Given the description of an element on the screen output the (x, y) to click on. 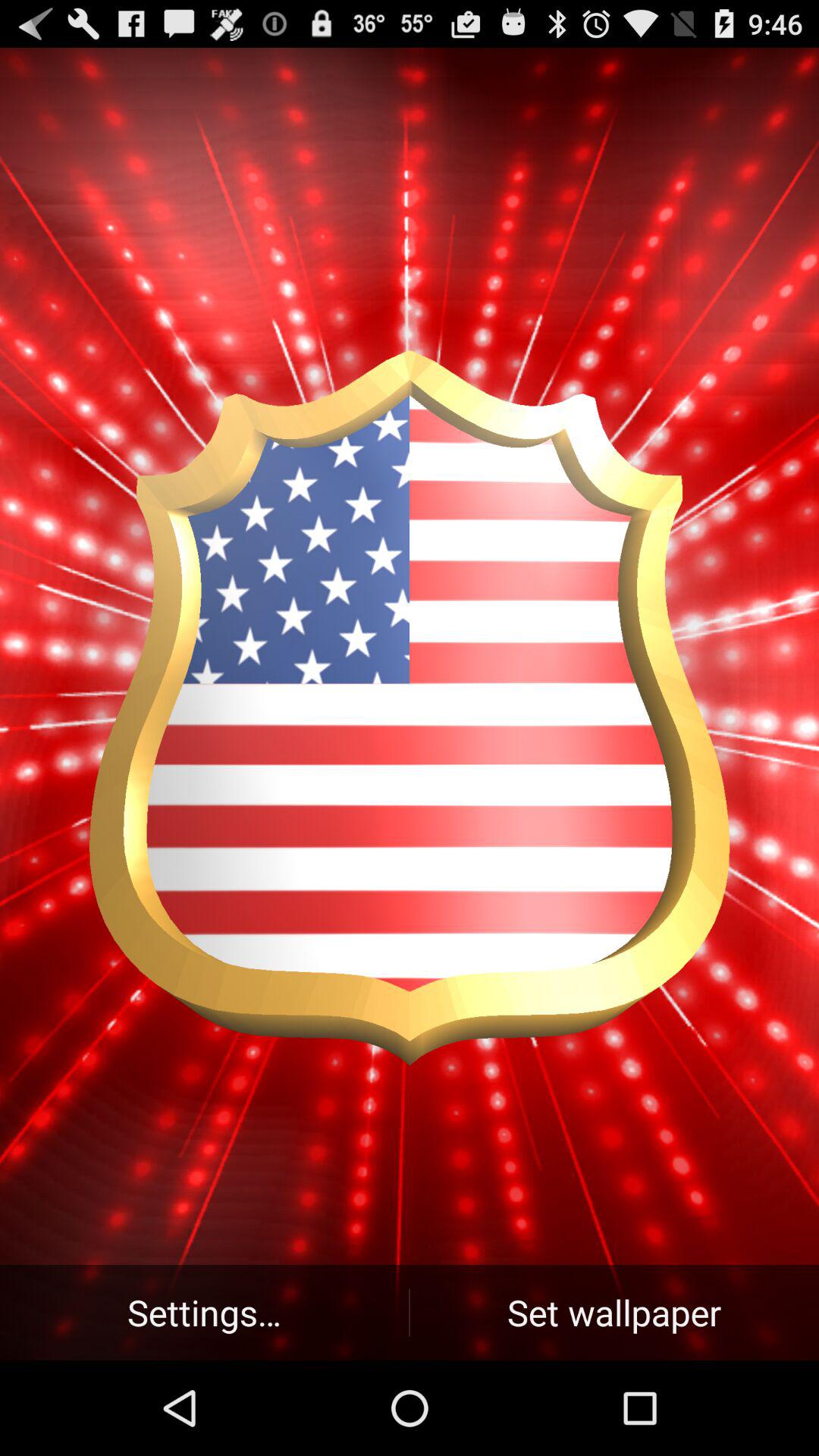
tap the button to the left of the set wallpaper icon (204, 1312)
